Given the description of an element on the screen output the (x, y) to click on. 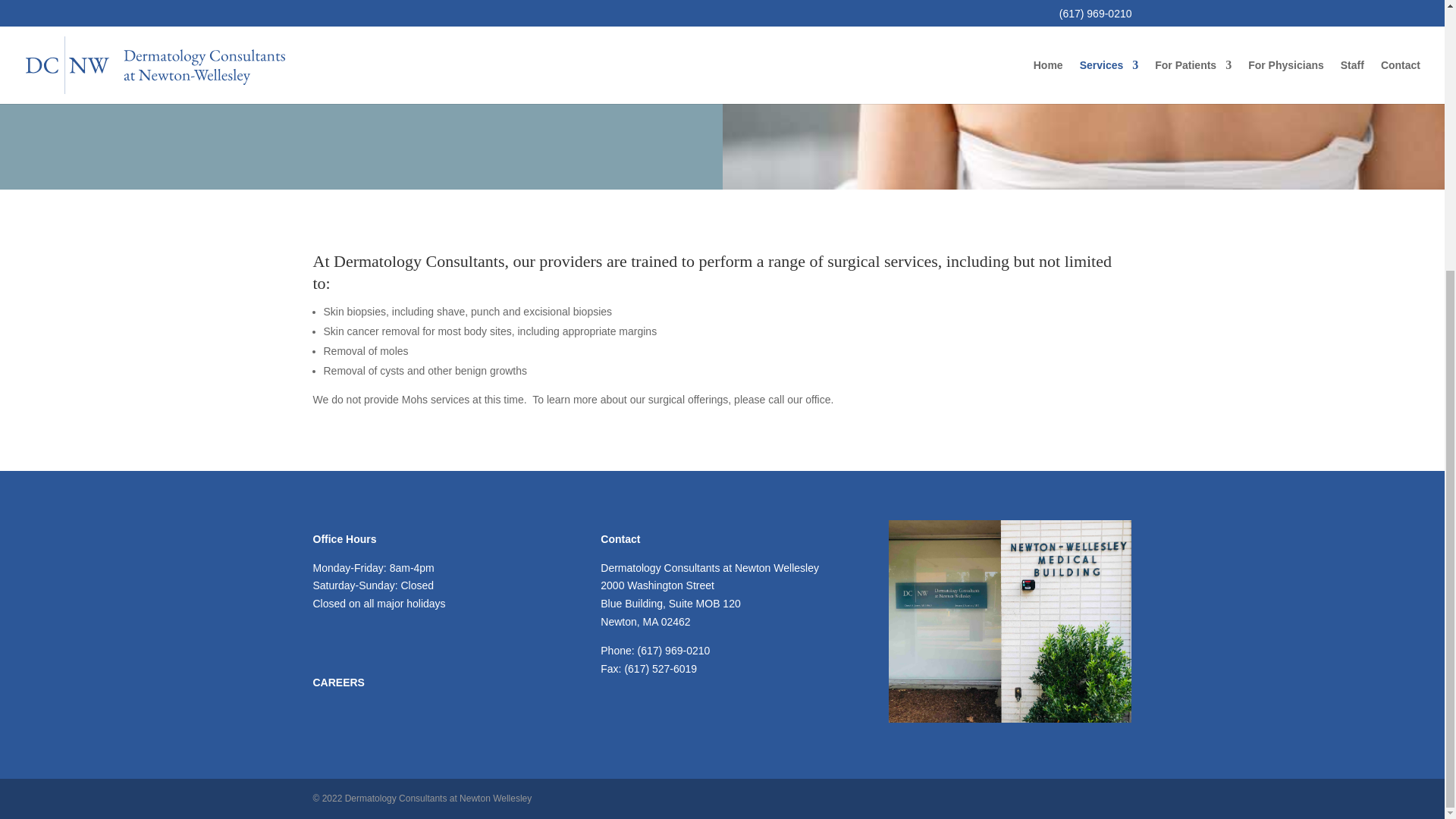
CAREERS (379, 683)
